Given the description of an element on the screen output the (x, y) to click on. 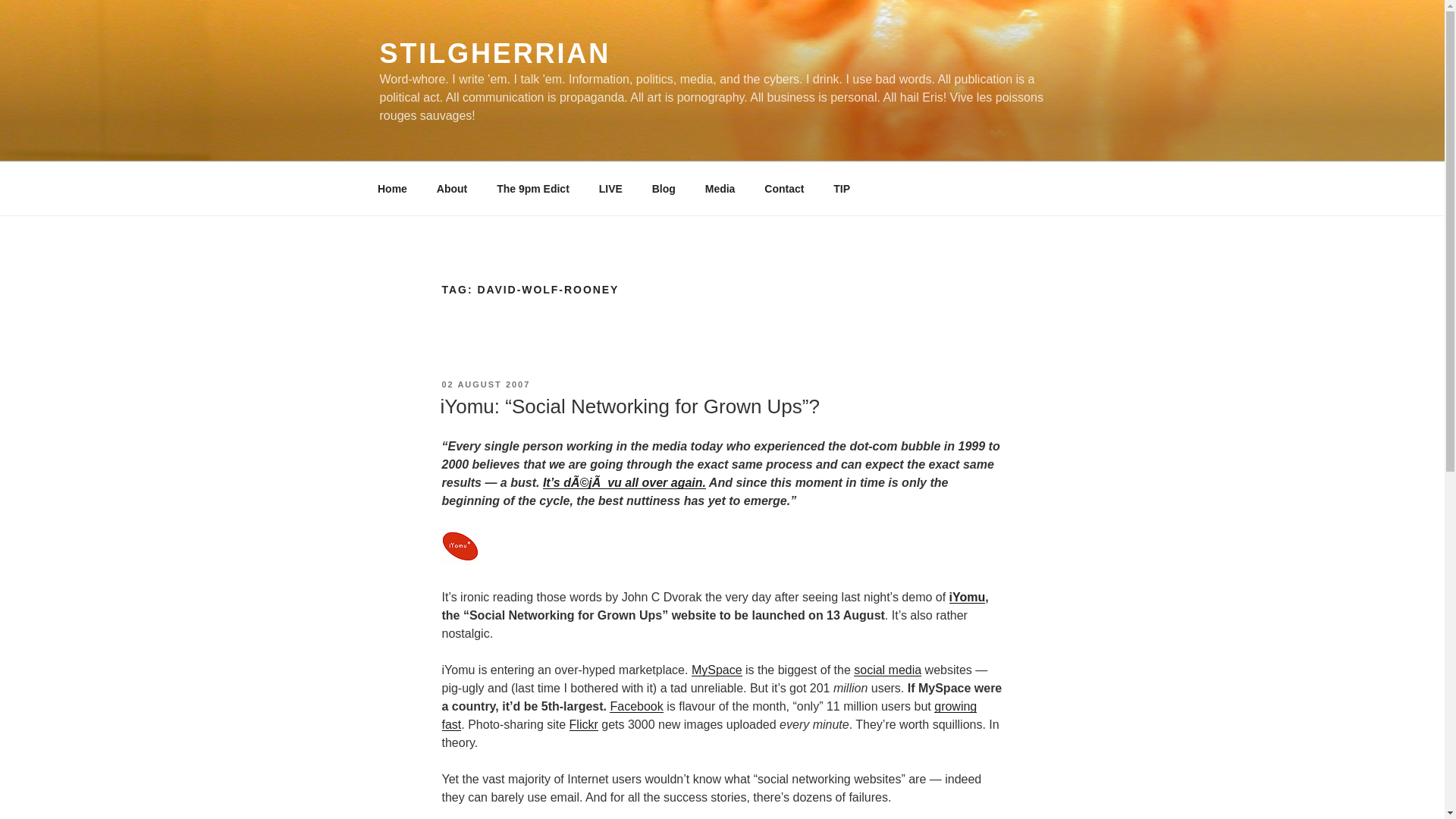
social media (887, 669)
growing fast (708, 715)
Contact (783, 188)
Media (719, 188)
Blog (663, 188)
TIP (842, 188)
Home (392, 188)
Flickr (583, 724)
STILGHERRIAN (494, 52)
02 AUGUST 2007 (485, 384)
LIVE (609, 188)
iYomu (459, 560)
MySpace (716, 669)
The 9pm Edict (533, 188)
iYomu (967, 596)
